Given the description of an element on the screen output the (x, y) to click on. 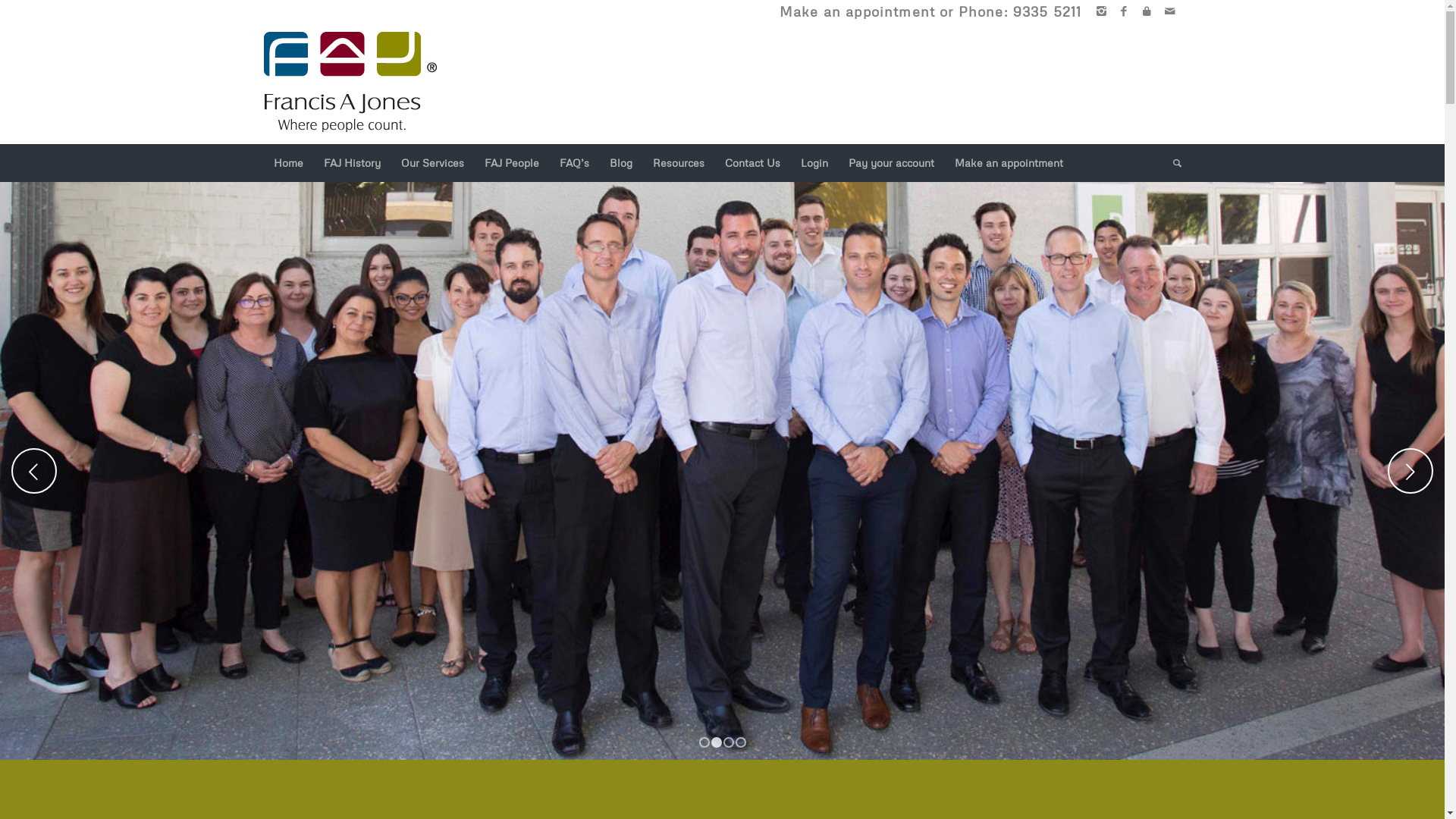
FAJ People Element type: text (510, 163)
Home Element type: text (288, 163)
4 Element type: text (740, 742)
Resources Element type: text (677, 163)
2 Element type: text (716, 742)
Make an appointment Element type: text (857, 11)
Login Element type: text (813, 163)
Blog Element type: text (620, 163)
The team at FAJ Element type: hover (722, 470)
1 Element type: text (704, 742)
3 Element type: text (728, 742)
Facebook Element type: hover (1124, 11)
Contact Us Element type: text (752, 163)
Previous Element type: text (33, 470)
Instagram Element type: hover (1101, 11)
LogIn Element type: hover (1146, 11)
Our Services Element type: text (431, 163)
Make an appointment Element type: text (1007, 163)
Next Element type: text (1410, 470)
Mail Element type: hover (1169, 11)
Pay your account Element type: text (890, 163)
FAJ History Element type: text (350, 163)
